Given the description of an element on the screen output the (x, y) to click on. 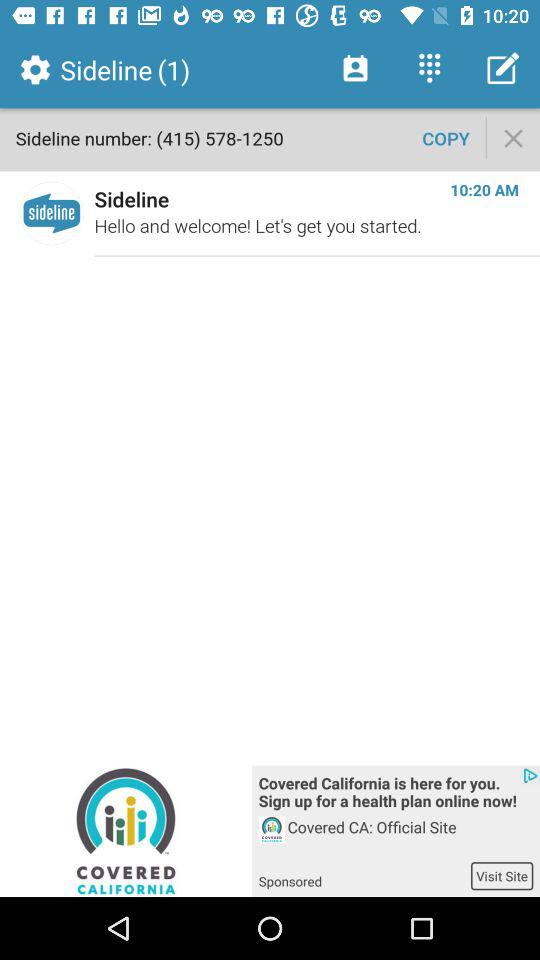
jump to covered california is (395, 794)
